Given the description of an element on the screen output the (x, y) to click on. 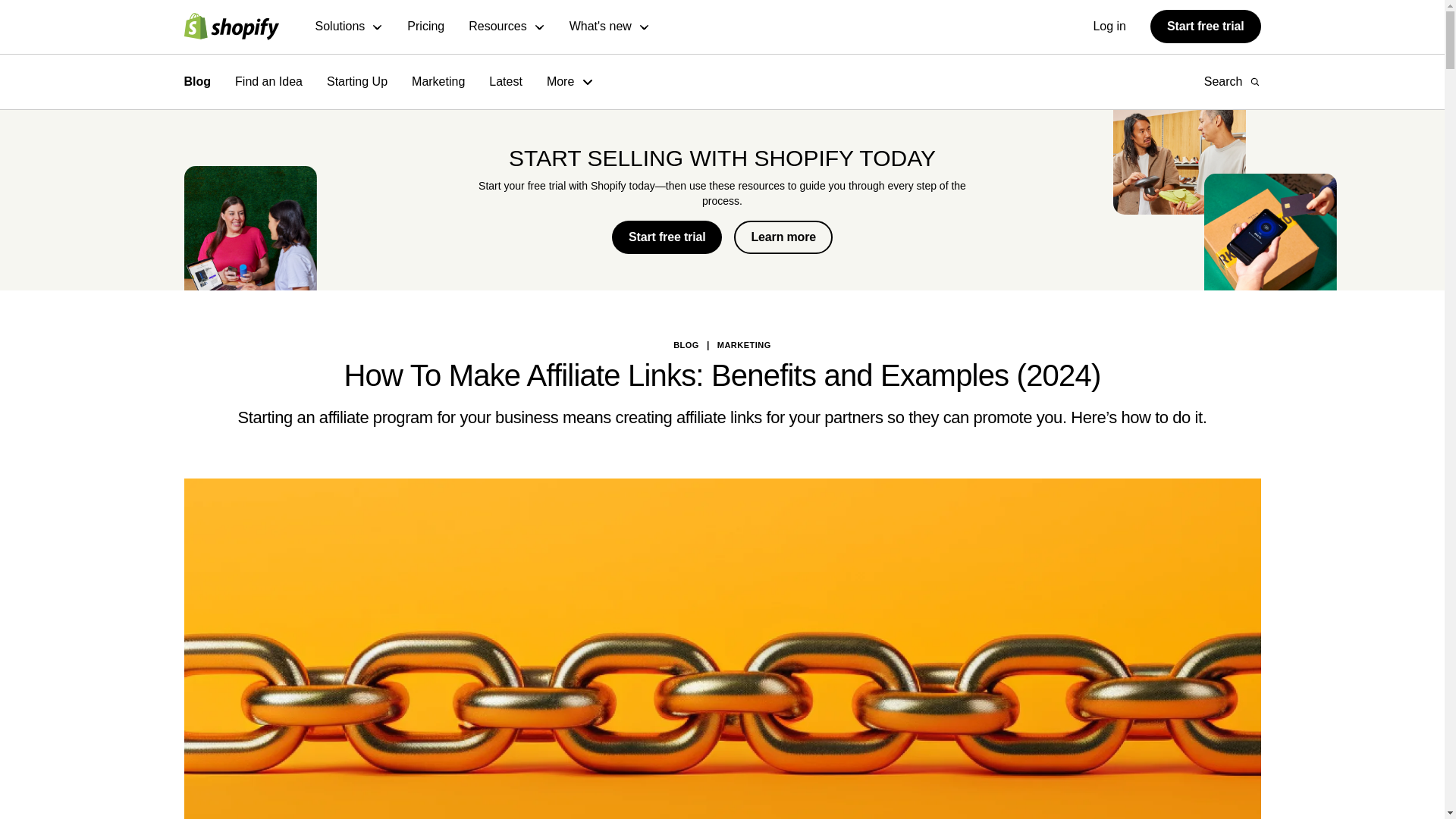
Solutions (349, 27)
Pricing (425, 27)
Resources (506, 27)
